Given the description of an element on the screen output the (x, y) to click on. 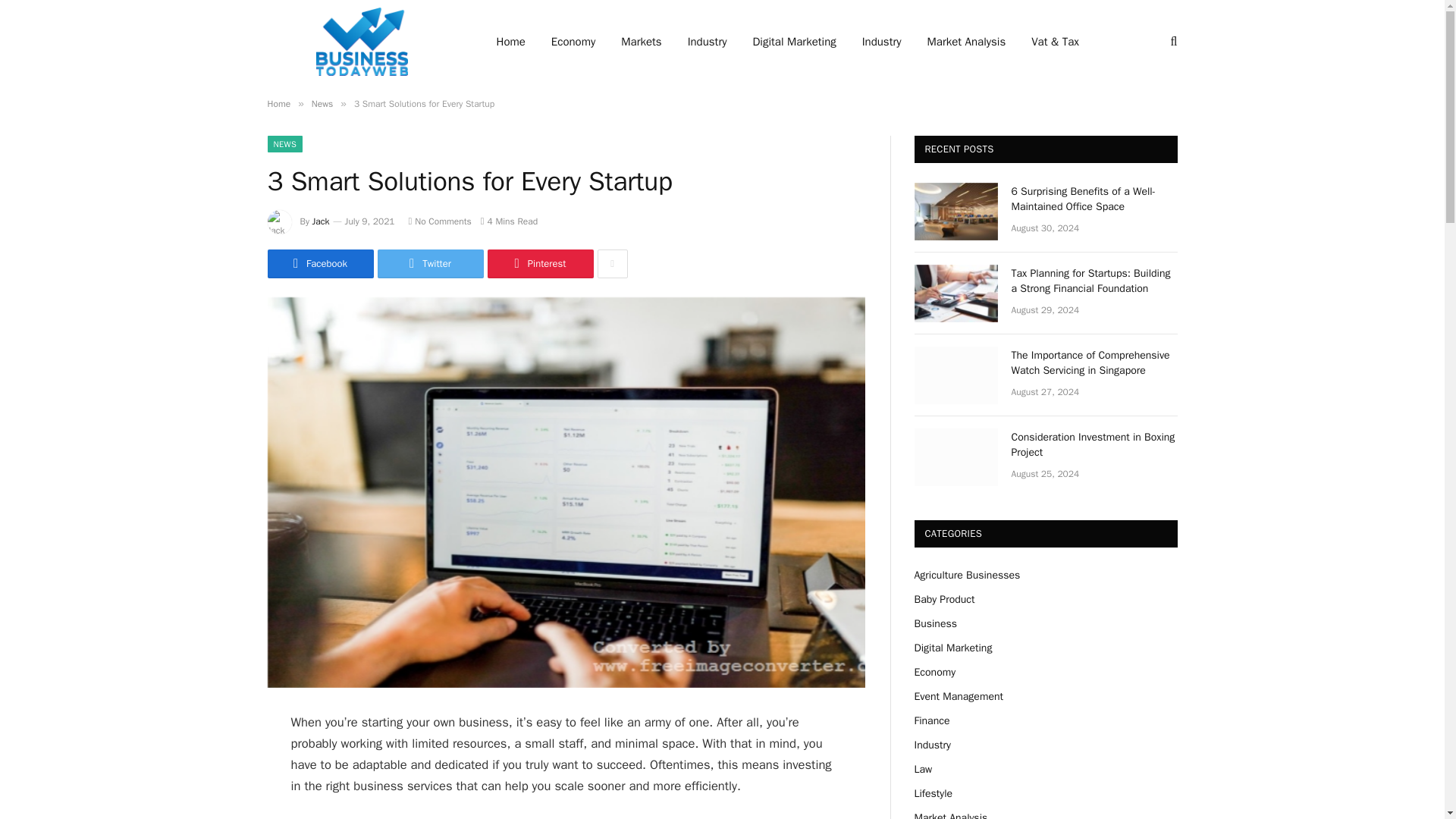
Share on Facebook (319, 263)
Market Analysis (966, 41)
Facebook (319, 263)
Posts by Jack (321, 221)
Pinterest (539, 263)
Home (277, 103)
NEWS (284, 143)
Businesstodayweb (361, 41)
Show More Social Sharing (611, 263)
News (322, 103)
